Given the description of an element on the screen output the (x, y) to click on. 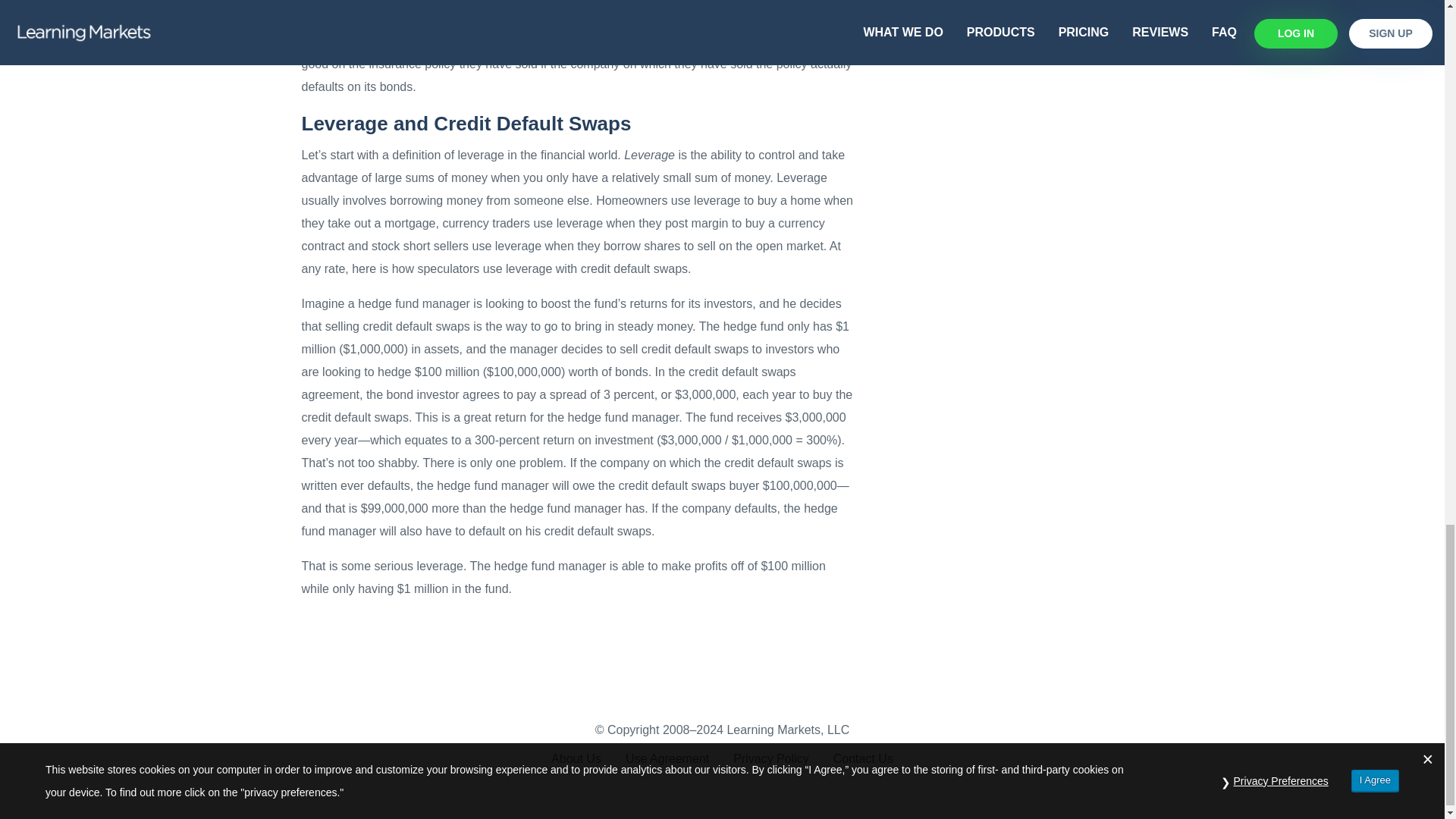
About Us (575, 759)
Privacy Policy (770, 759)
Use Agreement (666, 759)
Contact Us (863, 759)
